Given the description of an element on the screen output the (x, y) to click on. 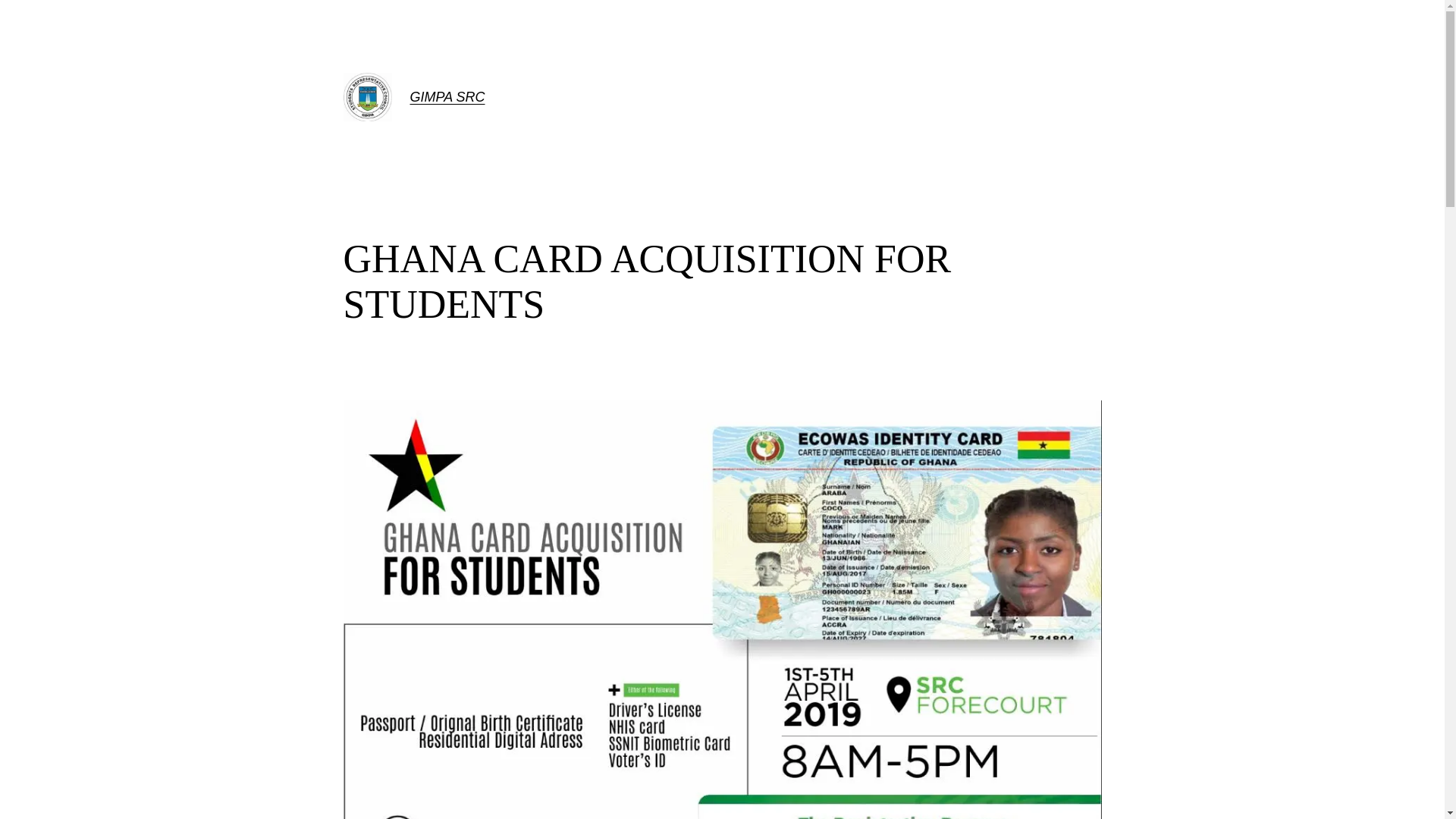
GIMPA SRC (446, 96)
